Given the description of an element on the screen output the (x, y) to click on. 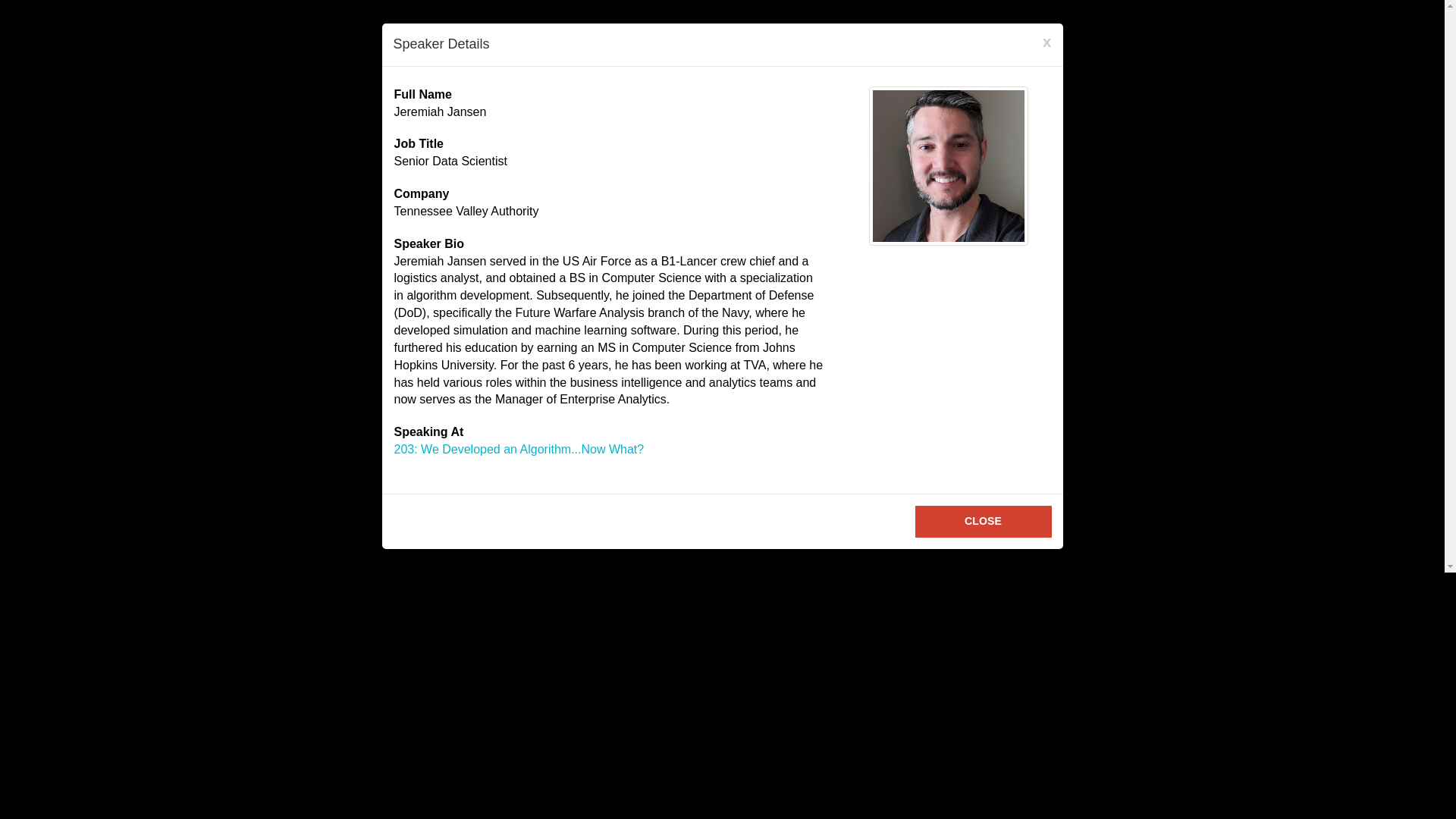
203: We Developed an Algorithm...Now What? (519, 449)
Session Details (519, 449)
CLOSE (982, 521)
x (1046, 41)
